Given the description of an element on the screen output the (x, y) to click on. 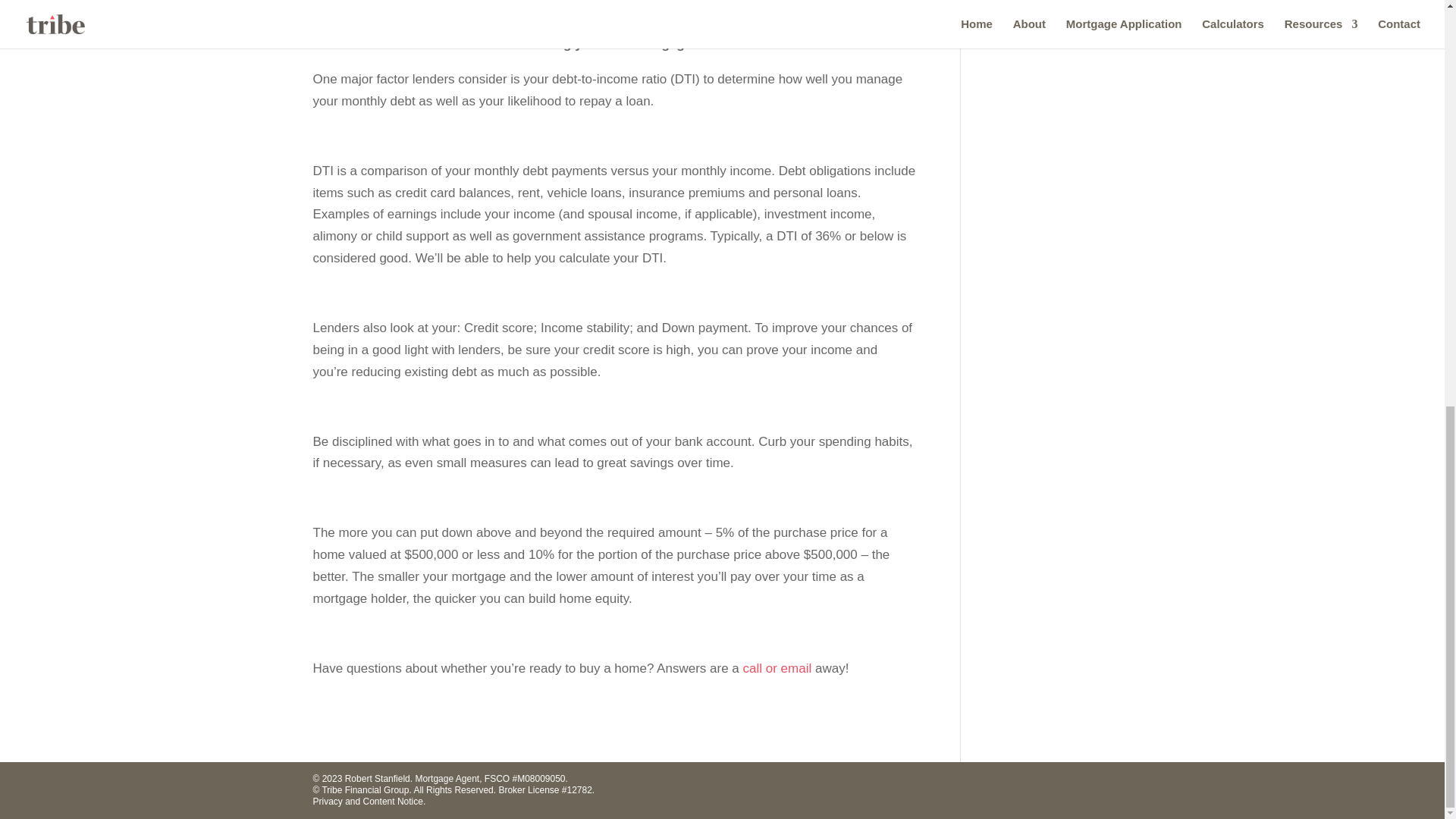
call or email (777, 667)
